Given the description of an element on the screen output the (x, y) to click on. 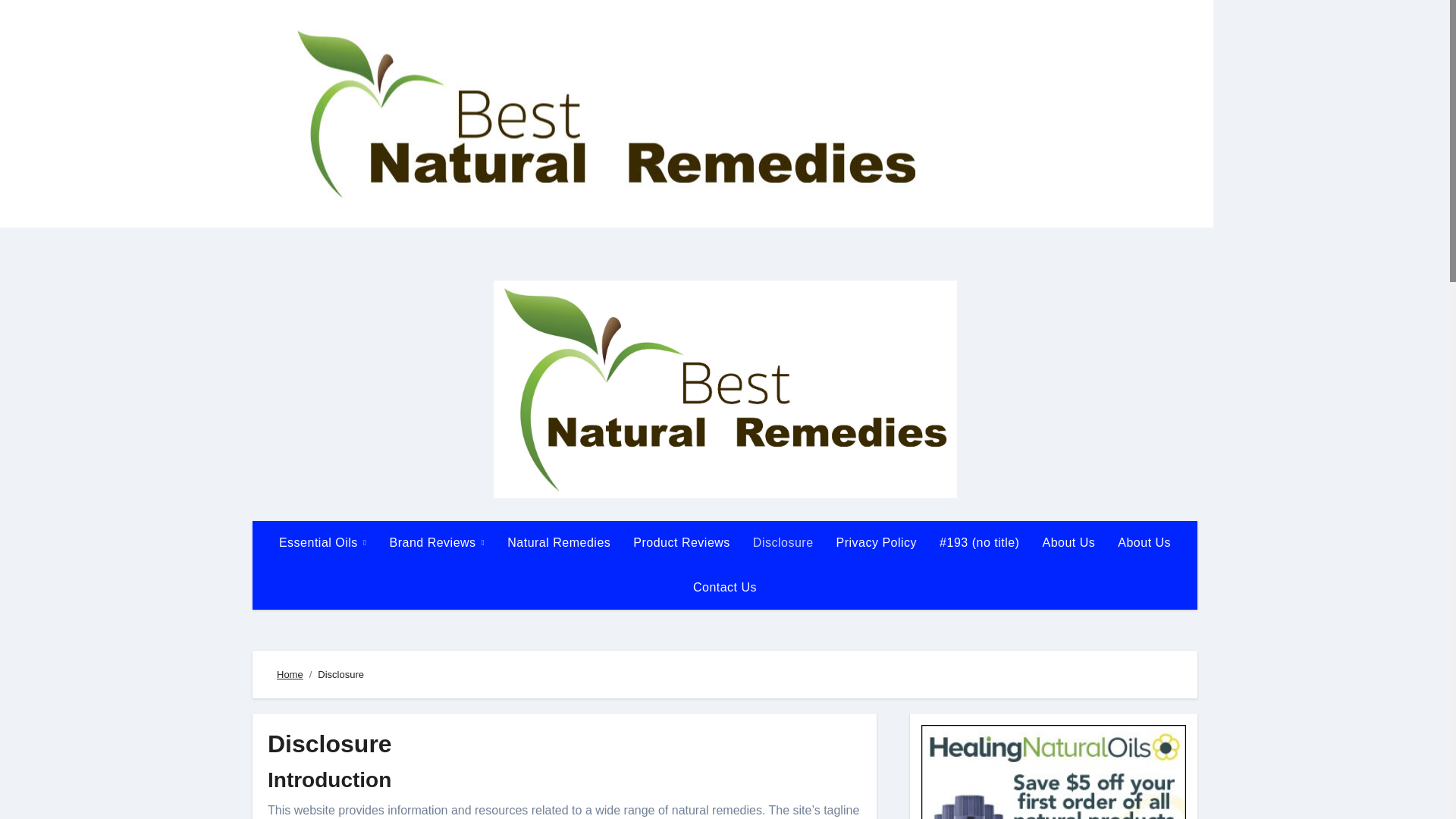
Brand Reviews (436, 542)
Essential Oils (322, 542)
Disclosure (783, 542)
Product Reviews (681, 542)
About Us (1144, 542)
Natural Remedies (558, 542)
Disclosure (783, 542)
Privacy Policy (876, 542)
Brand Reviews (436, 542)
About Us (1068, 542)
